Given the description of an element on the screen output the (x, y) to click on. 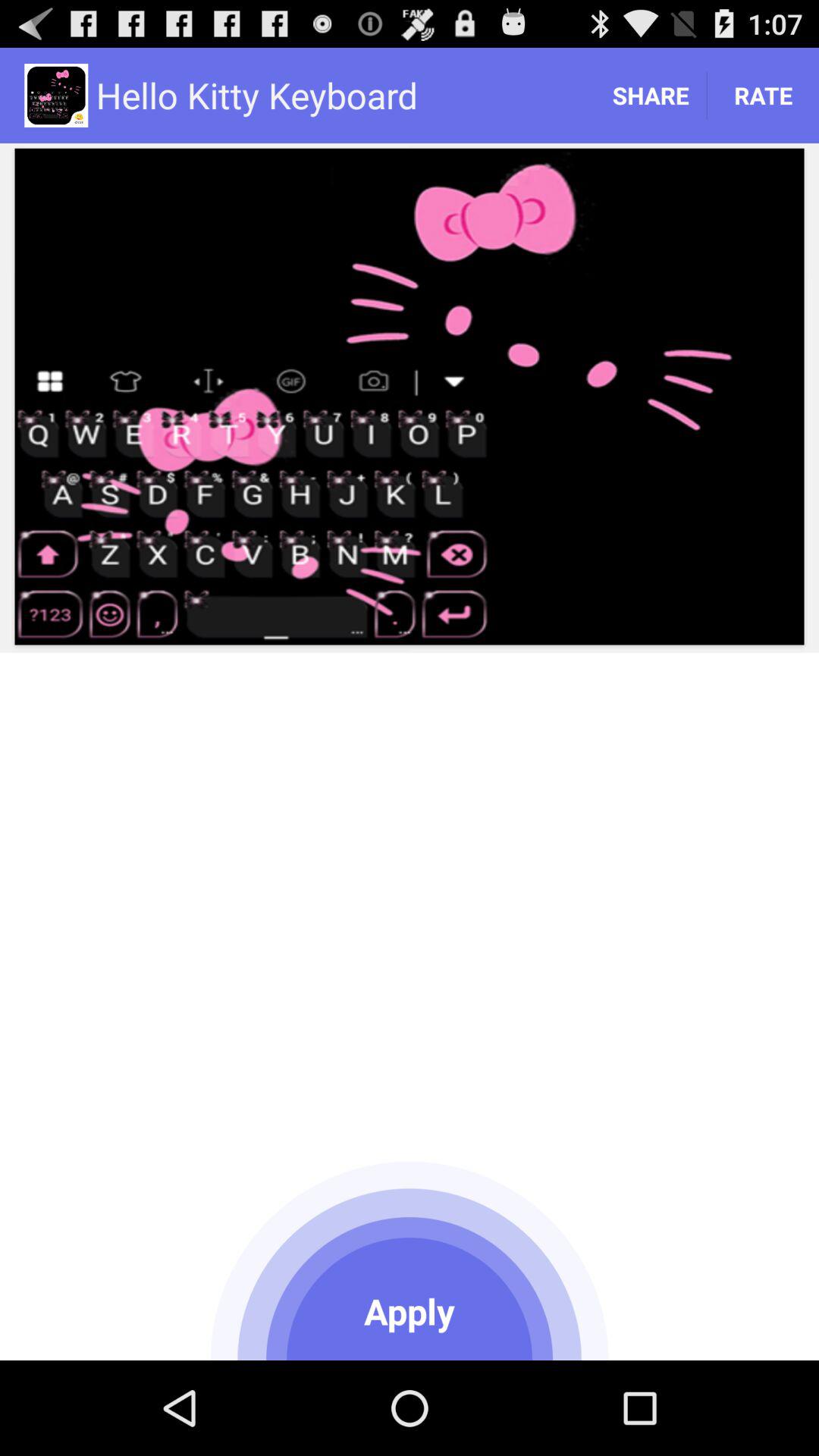
open share item (650, 95)
